Given the description of an element on the screen output the (x, y) to click on. 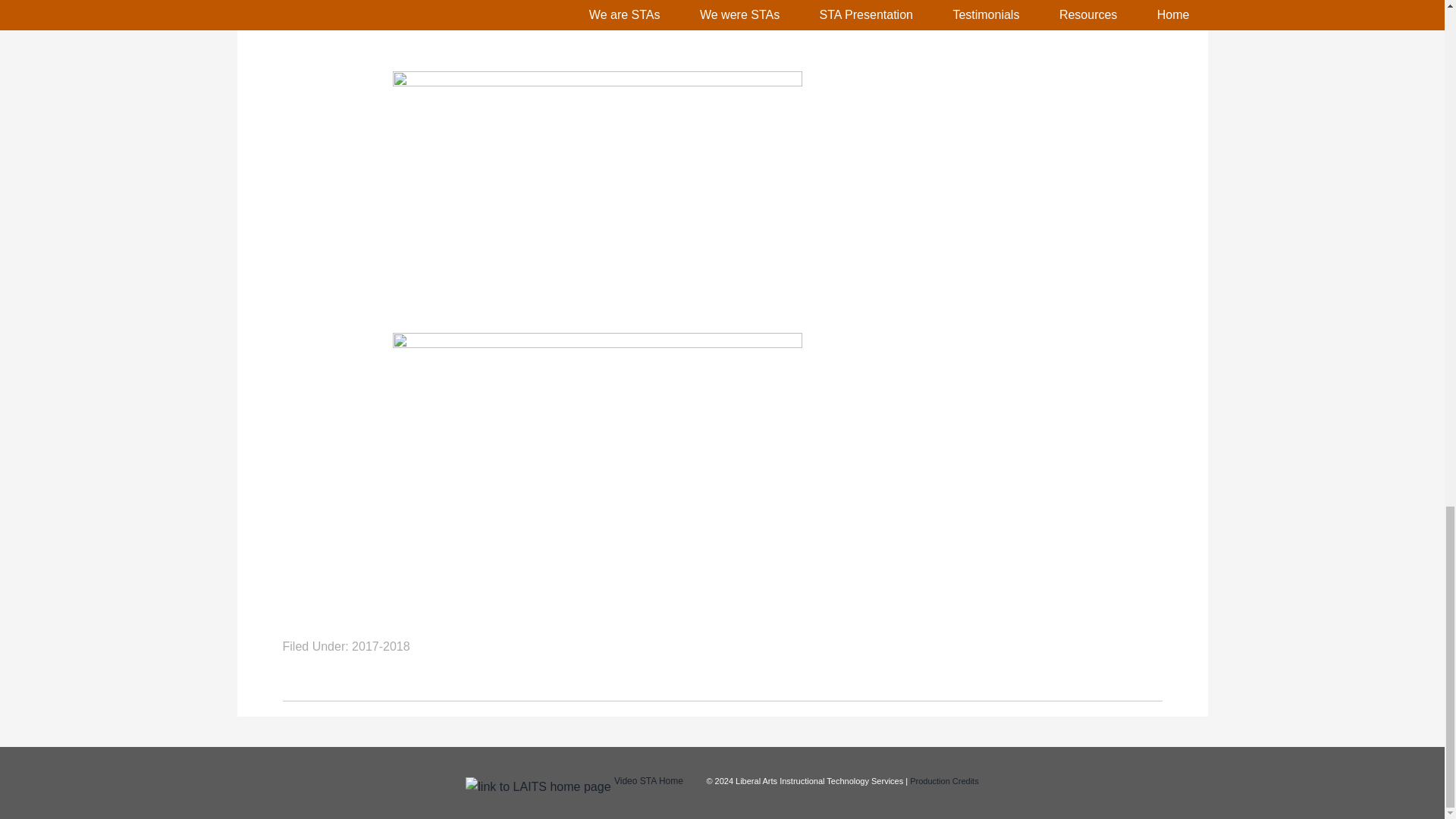
2017-2018 (381, 645)
Production Credits (944, 780)
Video STA Home (648, 780)
